Given the description of an element on the screen output the (x, y) to click on. 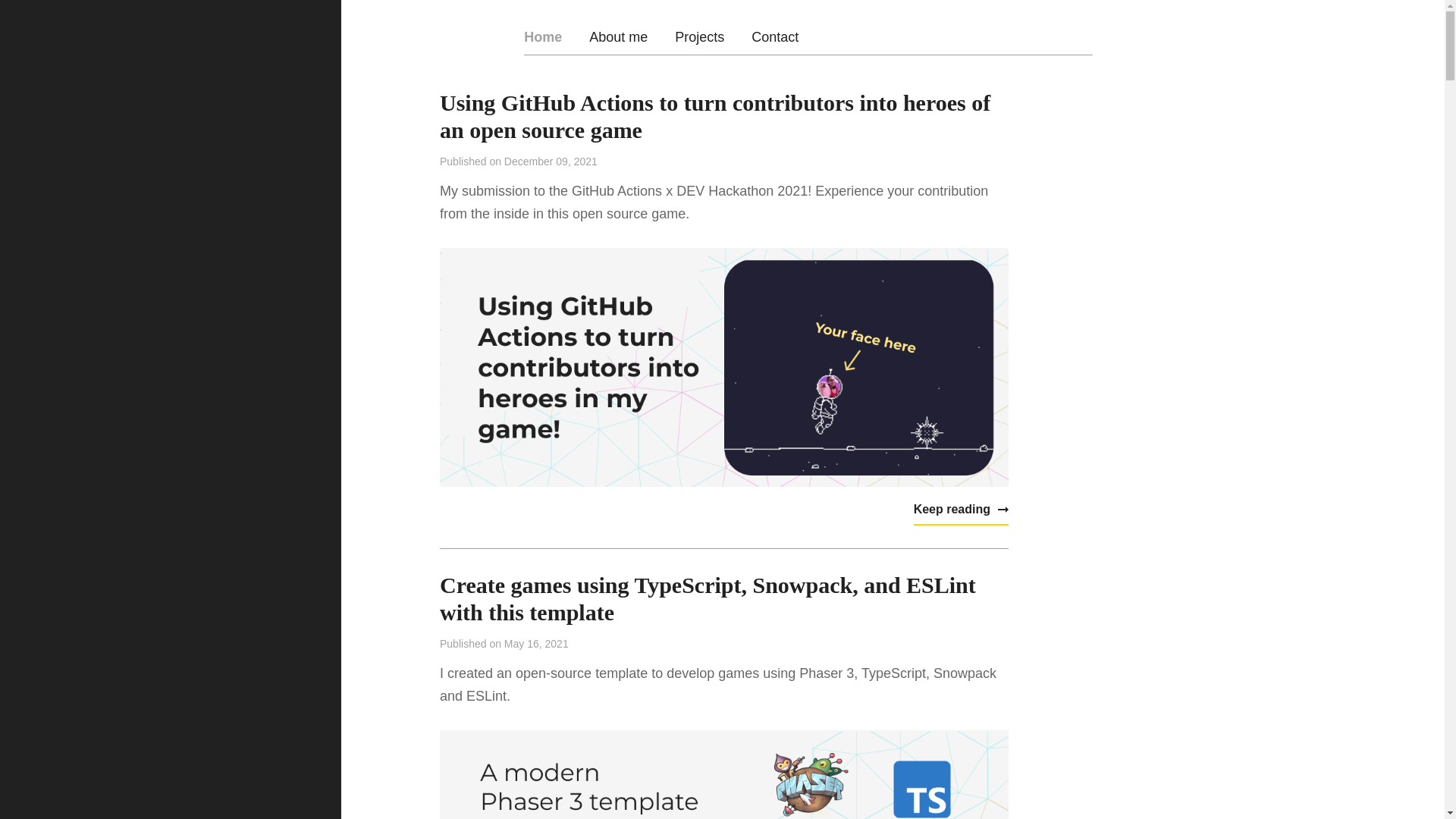
Home (543, 37)
About me (618, 37)
Projects (699, 37)
Contact (774, 37)
Keep reading (961, 510)
